Given the description of an element on the screen output the (x, y) to click on. 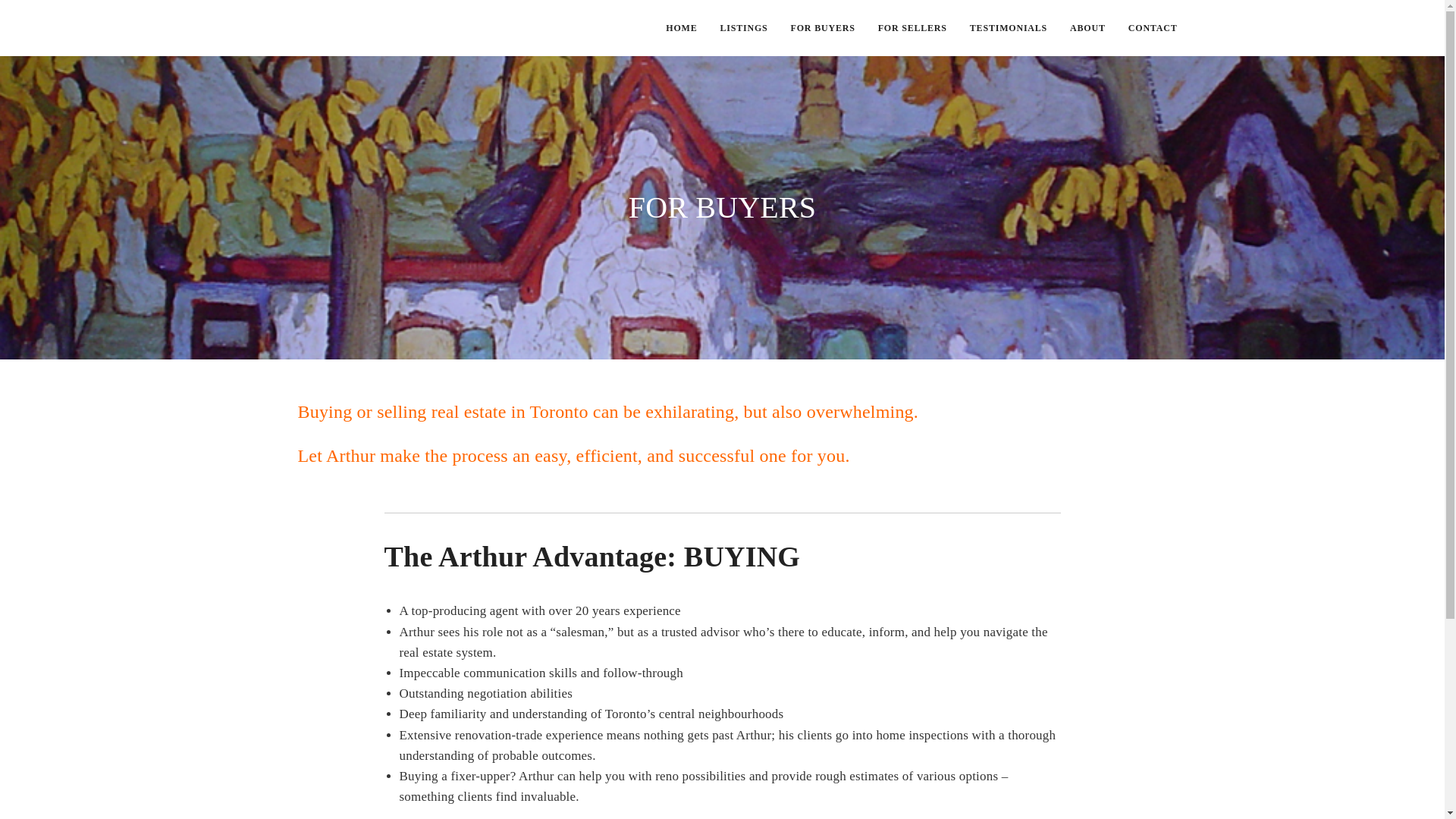
TESTIMONIALS Element type: text (1008, 28)
FOR BUYERS Element type: text (822, 28)
CONTACT Element type: text (1153, 28)
ABOUT Element type: text (1087, 28)
HOME Element type: text (681, 28)
LISTINGS Element type: text (743, 28)
FOR SELLERS Element type: text (912, 28)
